Given the description of an element on the screen output the (x, y) to click on. 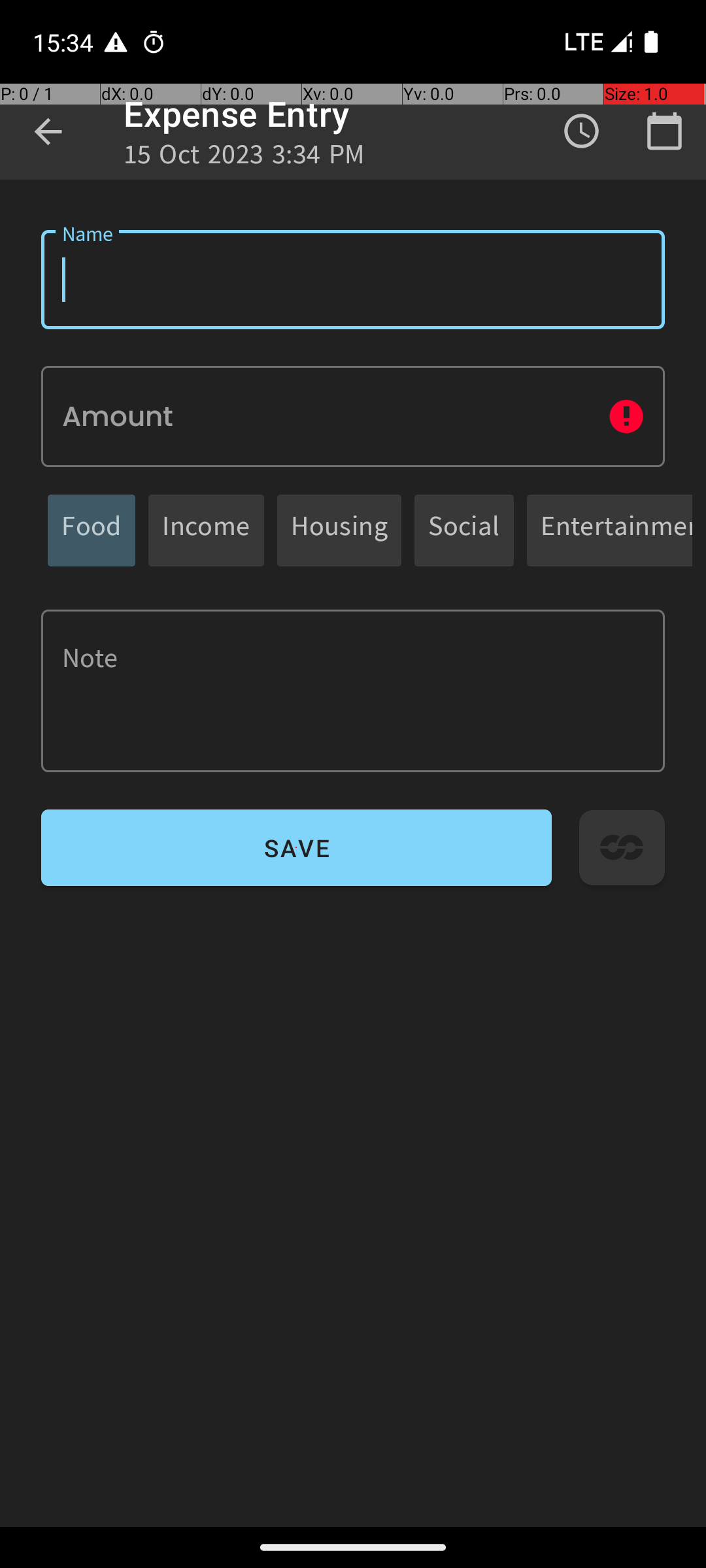
Name Element type: android.widget.EditText (352, 279)
